Given the description of an element on the screen output the (x, y) to click on. 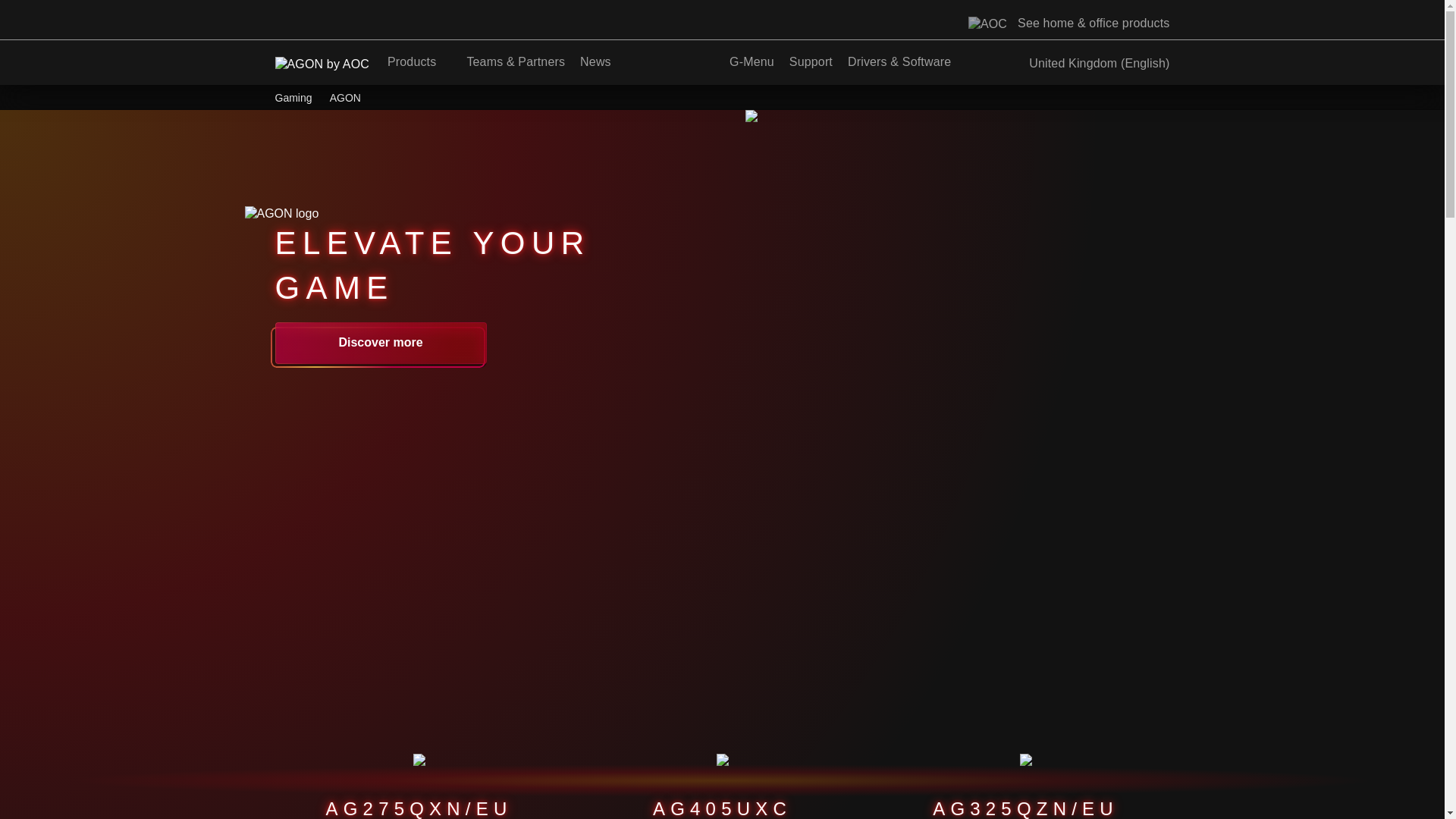
AGON logo (281, 213)
